Given the description of an element on the screen output the (x, y) to click on. 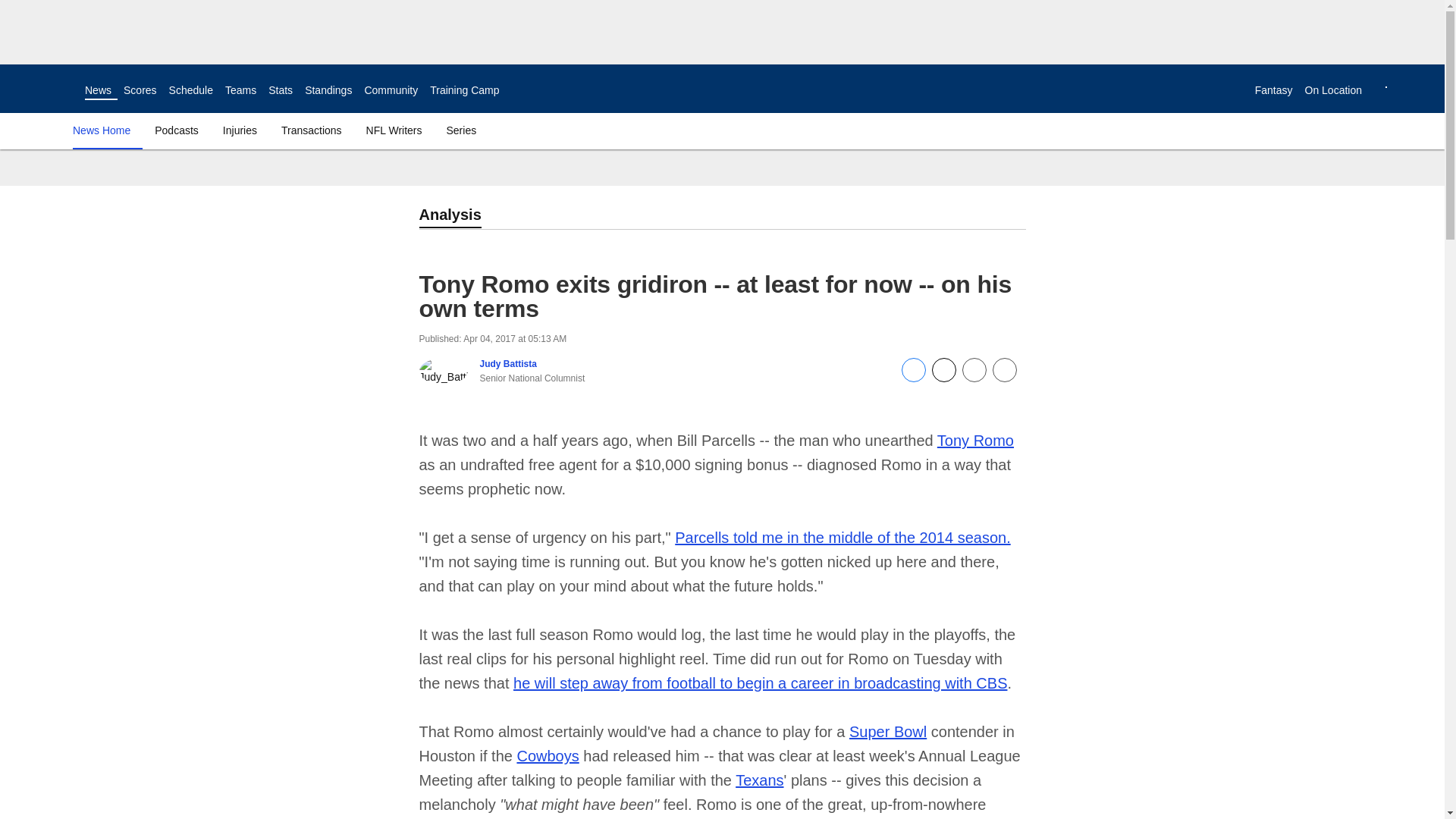
News (98, 90)
Teams (240, 90)
Link to NFL homepage (42, 88)
Stats (279, 90)
Teams (240, 90)
Scores (140, 90)
News (98, 90)
Schedule (190, 90)
Schedule (190, 90)
Scores (140, 90)
